Given the description of an element on the screen output the (x, y) to click on. 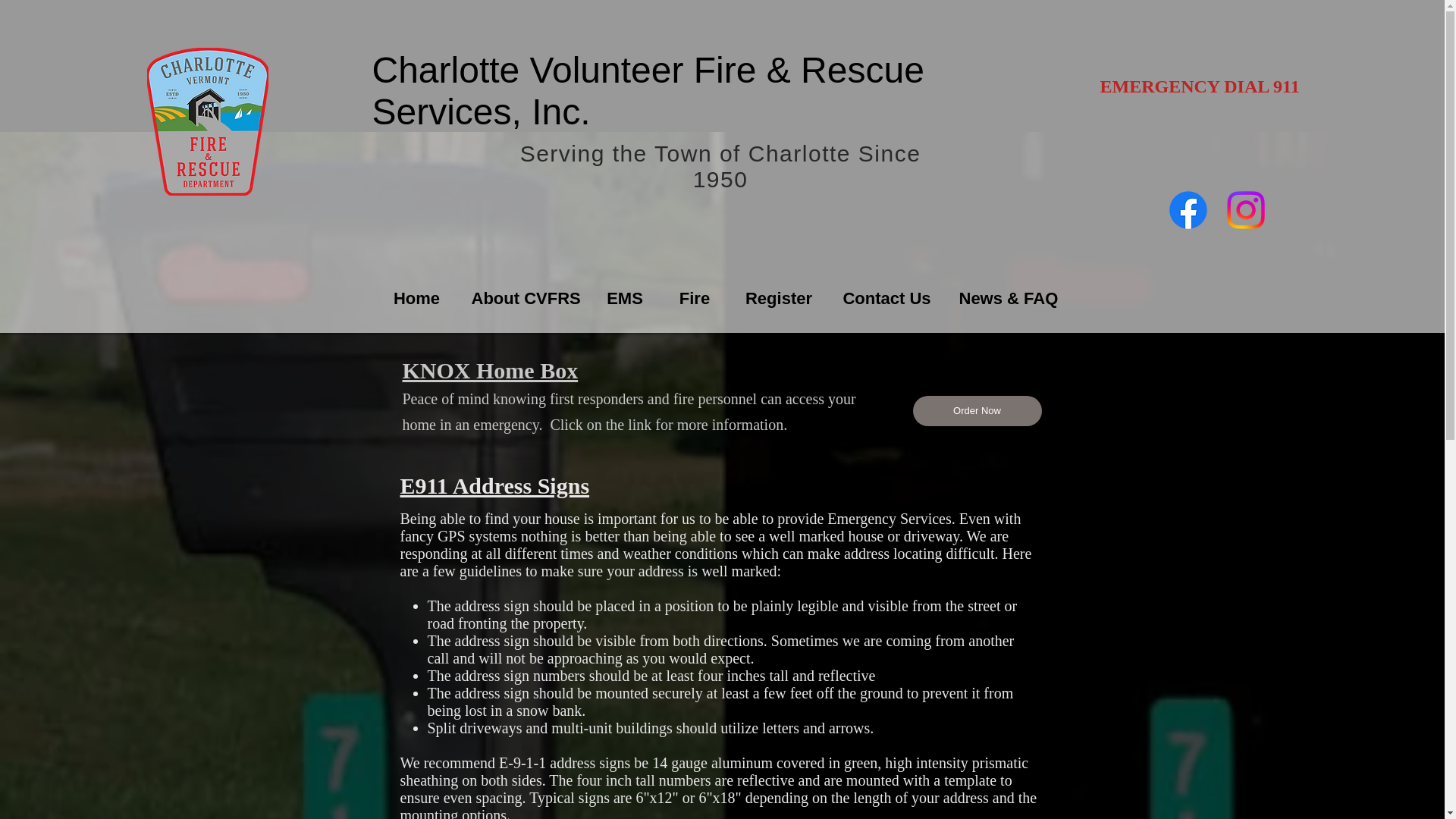
Contact Us (886, 291)
Home (416, 291)
Order Now (977, 410)
About CVFRS (523, 291)
EMS (625, 291)
Fire (694, 291)
Register (778, 291)
